Given the description of an element on the screen output the (x, y) to click on. 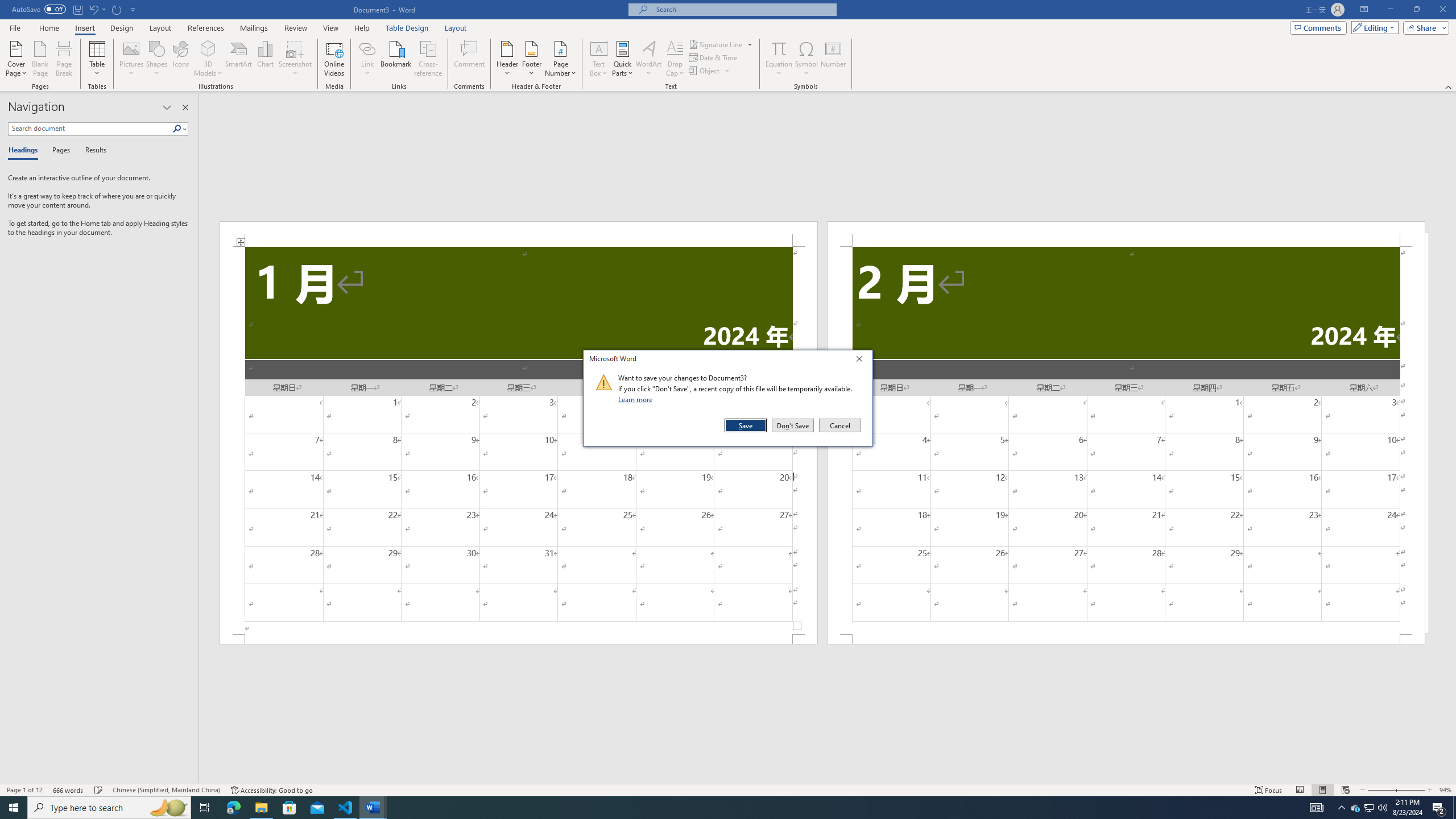
Footer (531, 58)
Notification Chevron (1341, 807)
Symbol (806, 58)
SmartArt... (238, 58)
Accessibility Checker Accessibility: Good to go (271, 790)
Quick Parts (622, 58)
Start (13, 807)
Running applications (717, 807)
Word - 2 running windows (373, 807)
